Given the description of an element on the screen output the (x, y) to click on. 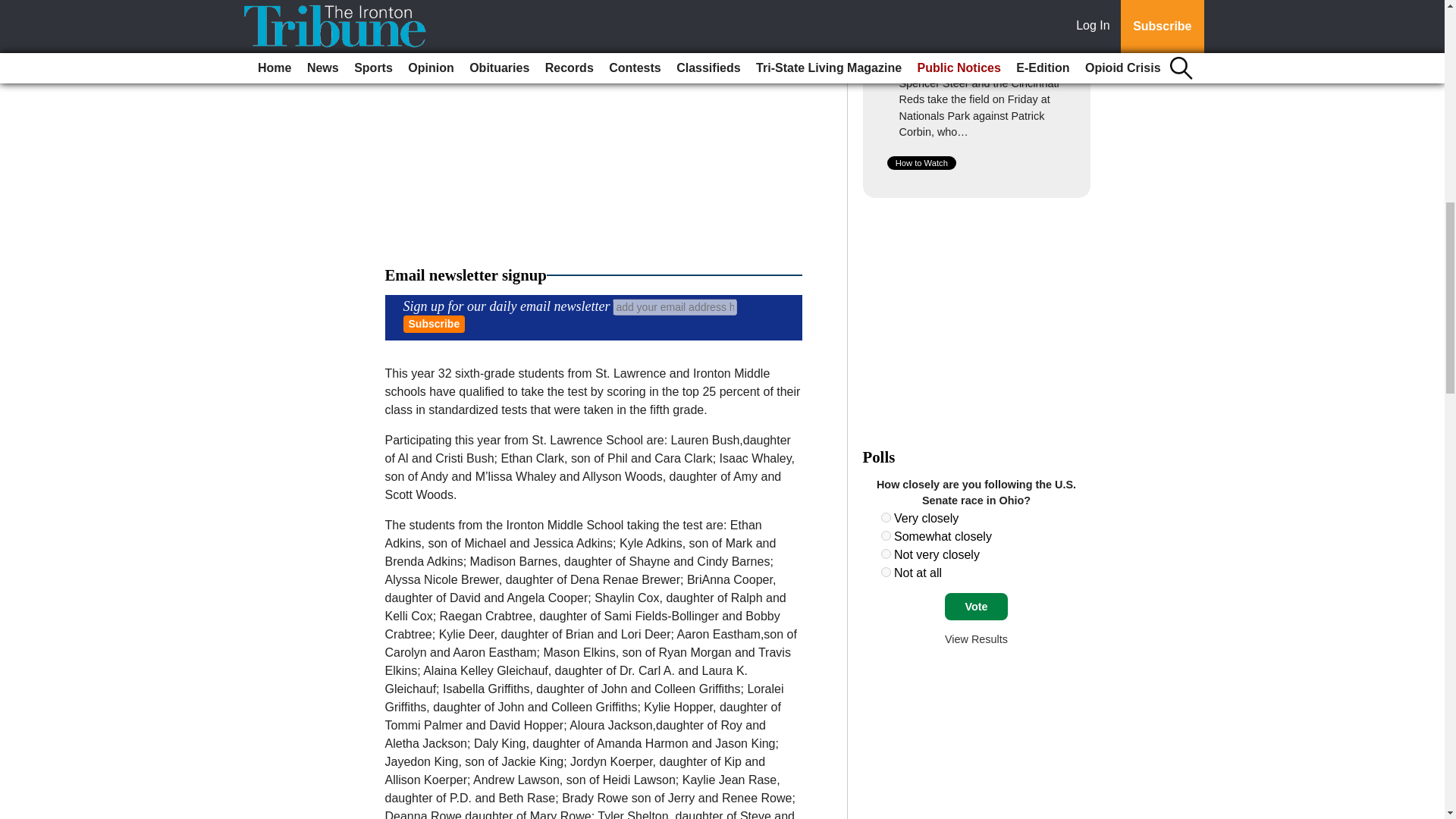
   Vote    (975, 605)
1433 (885, 535)
1432 (885, 517)
How to Watch (921, 162)
1434 (885, 553)
Subscribe (434, 323)
View Results Of This Poll (975, 639)
View Results (975, 639)
1435 (885, 572)
Subscribe (434, 323)
